Given the description of an element on the screen output the (x, y) to click on. 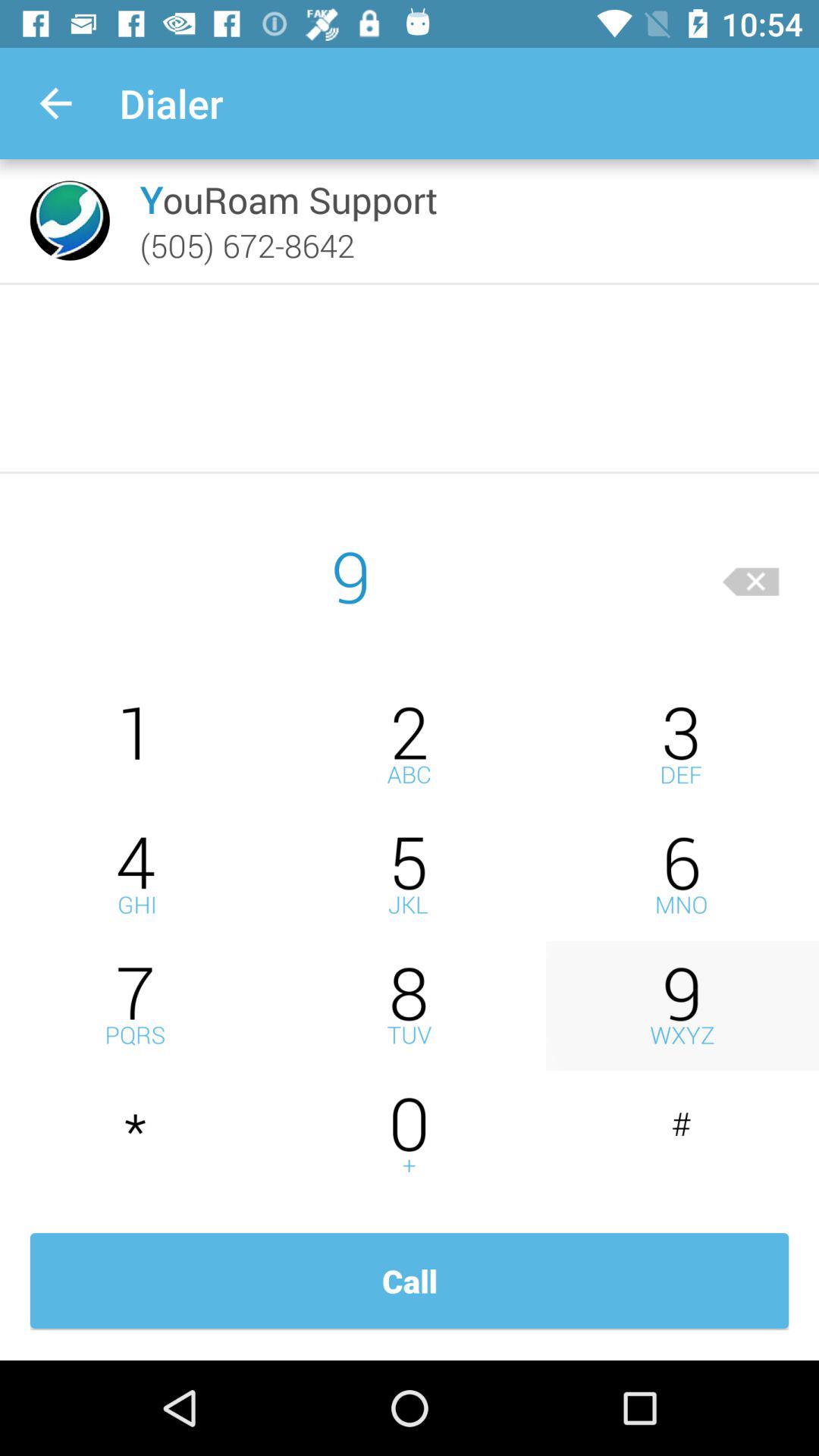
to enter number 3 in dial box (682, 745)
